Given the description of an element on the screen output the (x, y) to click on. 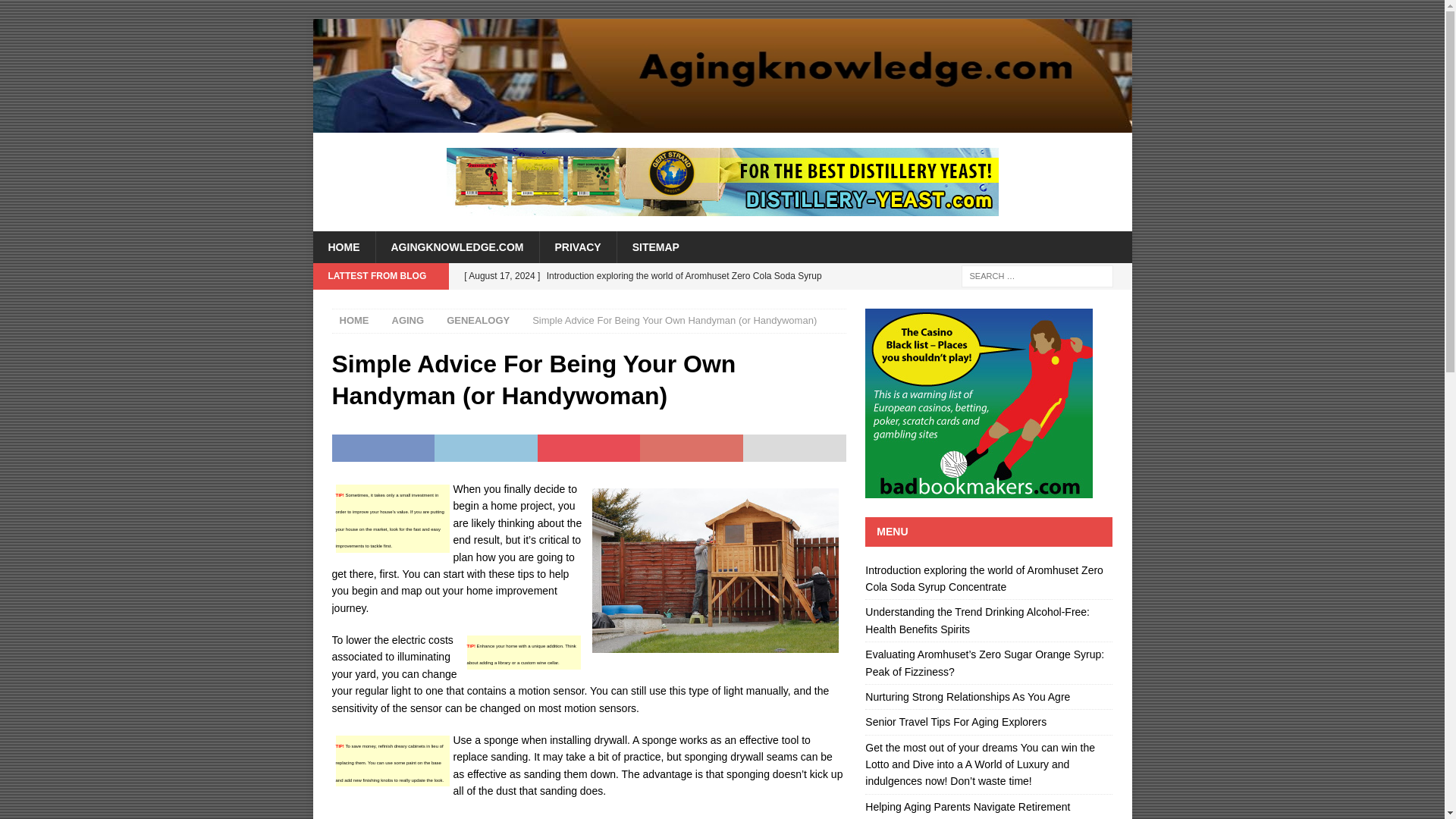
GENEALOGY (477, 319)
SITEMAP (654, 246)
Senior Travel Tips For Aging Explorers (955, 721)
Nurturing Strong Relationships As You Agre (967, 696)
PRIVACY (576, 246)
Helping Aging Parents Navigate Retirement (967, 806)
HOME (343, 246)
Agingknowledge (722, 123)
For the best distillery yeast! (721, 182)
